Given the description of an element on the screen output the (x, y) to click on. 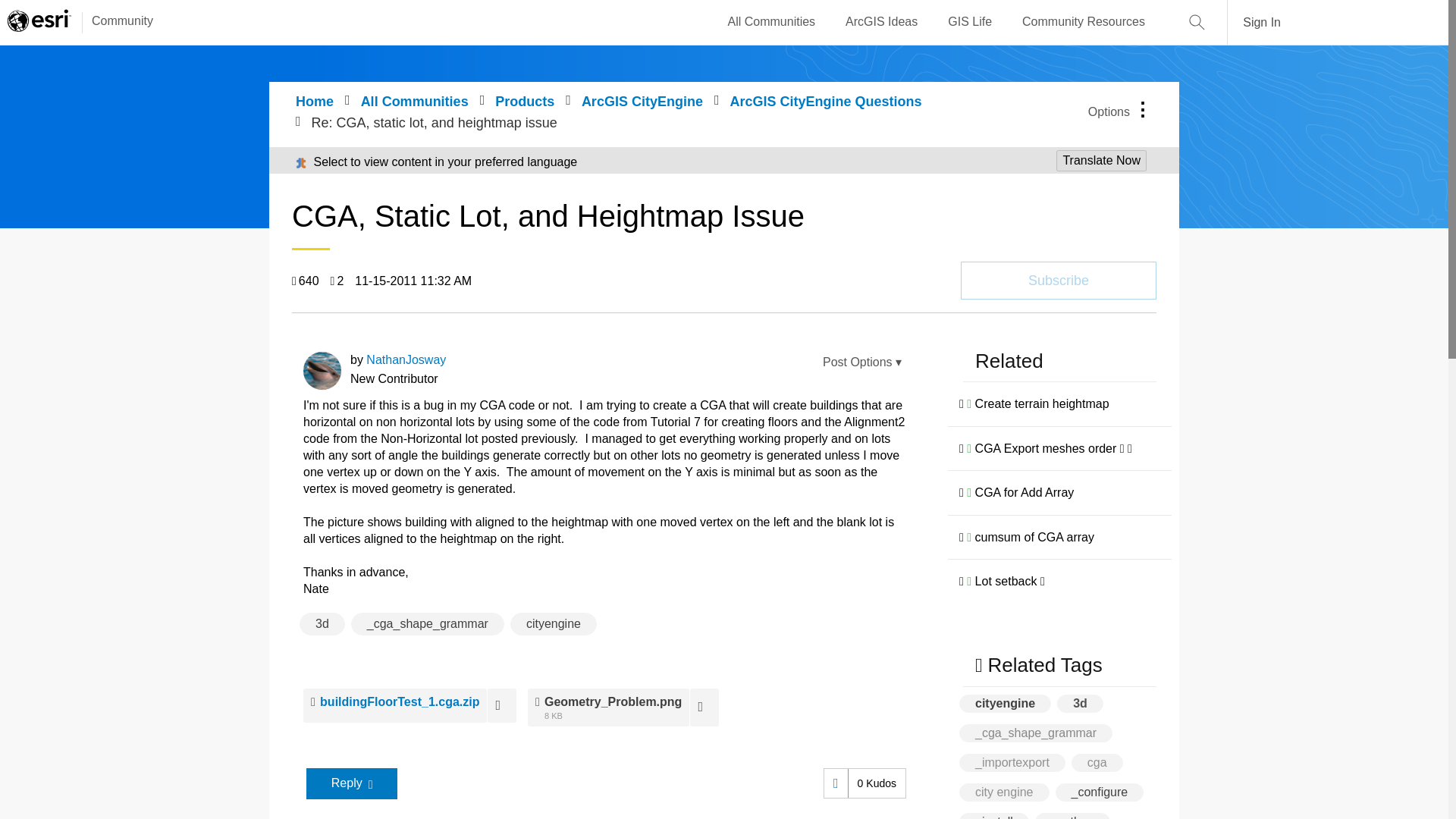
All Communities (772, 22)
Community (114, 22)
